Given the description of an element on the screen output the (x, y) to click on. 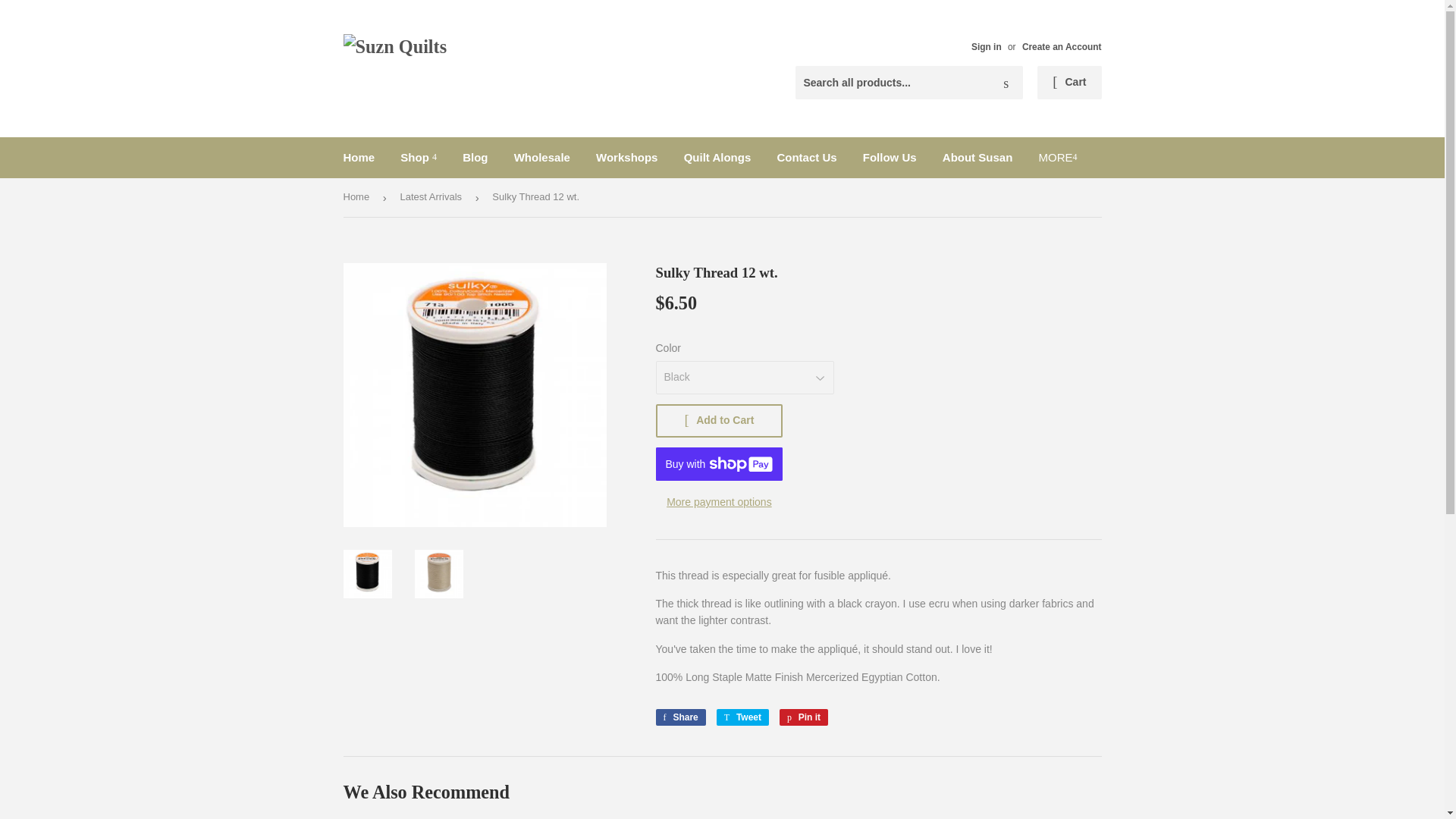
Tweet on Twitter (742, 717)
Cart (1068, 82)
Pin on Pinterest (803, 717)
Share on Facebook (679, 717)
Create an Account (1062, 46)
Search (1005, 83)
Sign in (986, 46)
